Given the description of an element on the screen output the (x, y) to click on. 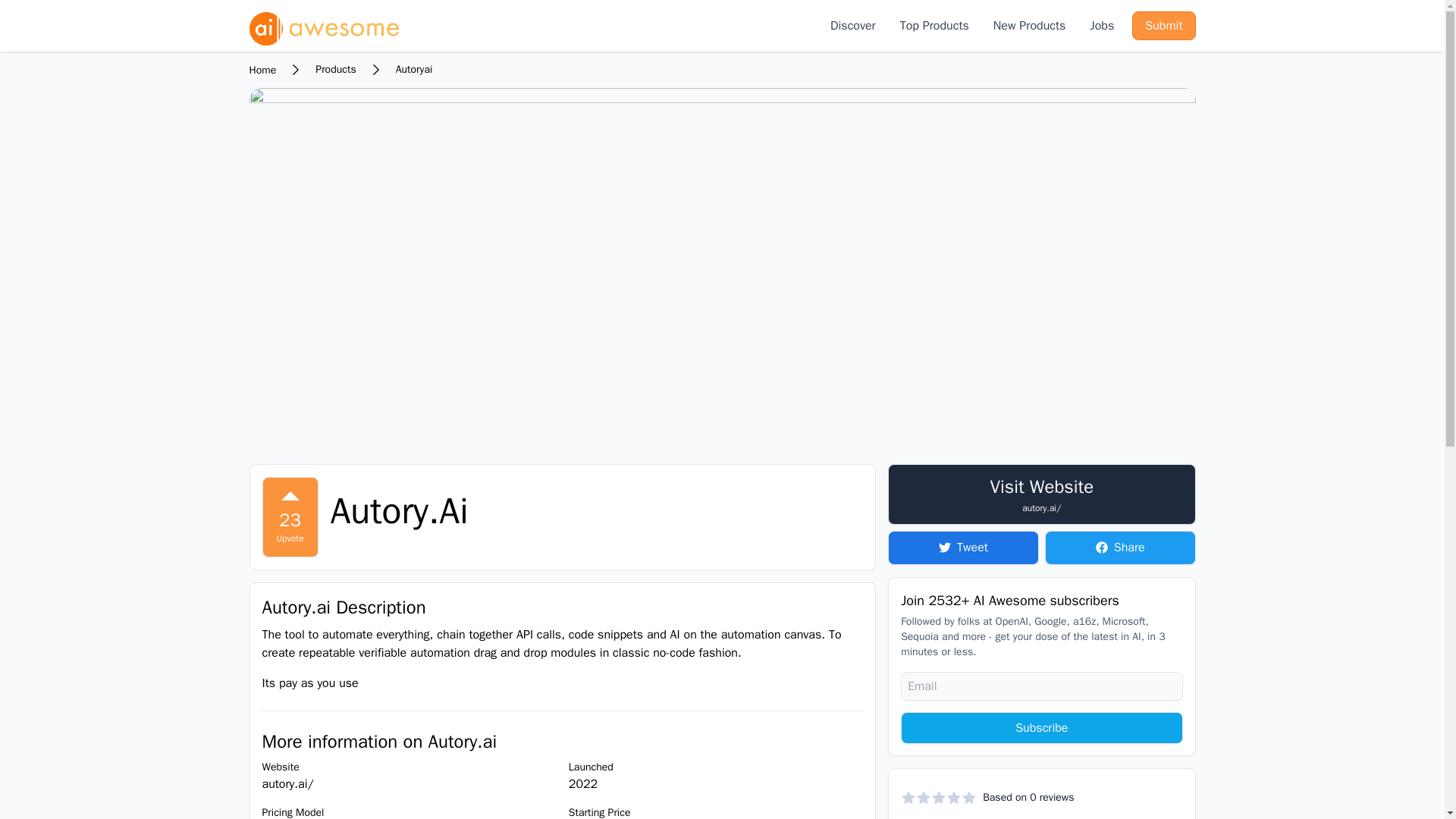
Subscribe (1041, 727)
Jobs (1101, 25)
Products (335, 69)
Share (1120, 547)
Autoryai (414, 69)
Discover (853, 25)
Submit (1163, 25)
Top Products (934, 25)
AI Awesome (324, 25)
Tweet (963, 547)
New Products (1029, 25)
Home (262, 69)
